Given the description of an element on the screen output the (x, y) to click on. 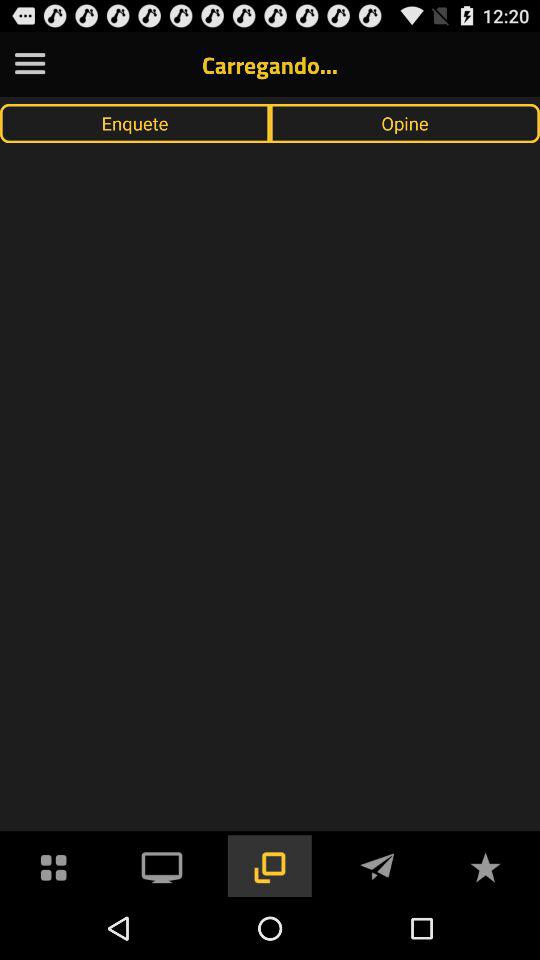
turn on icon above enquete (29, 64)
